Given the description of an element on the screen output the (x, y) to click on. 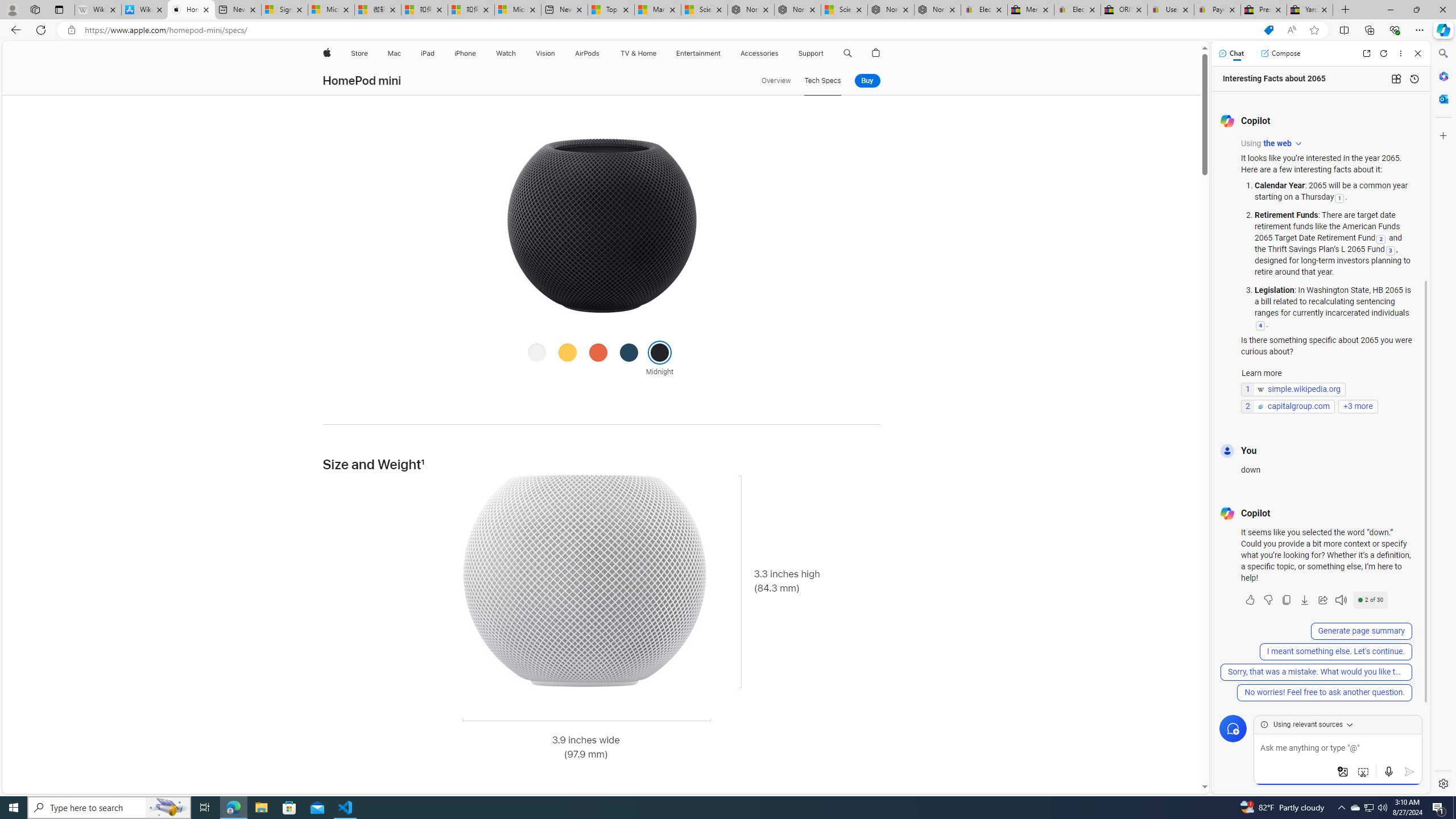
Apple (325, 53)
AutomationID: globalnav-bag (876, 53)
Tech Specs (822, 80)
Orange (598, 351)
Footnote 1 (422, 464)
Store menu (370, 53)
